Given the description of an element on the screen output the (x, y) to click on. 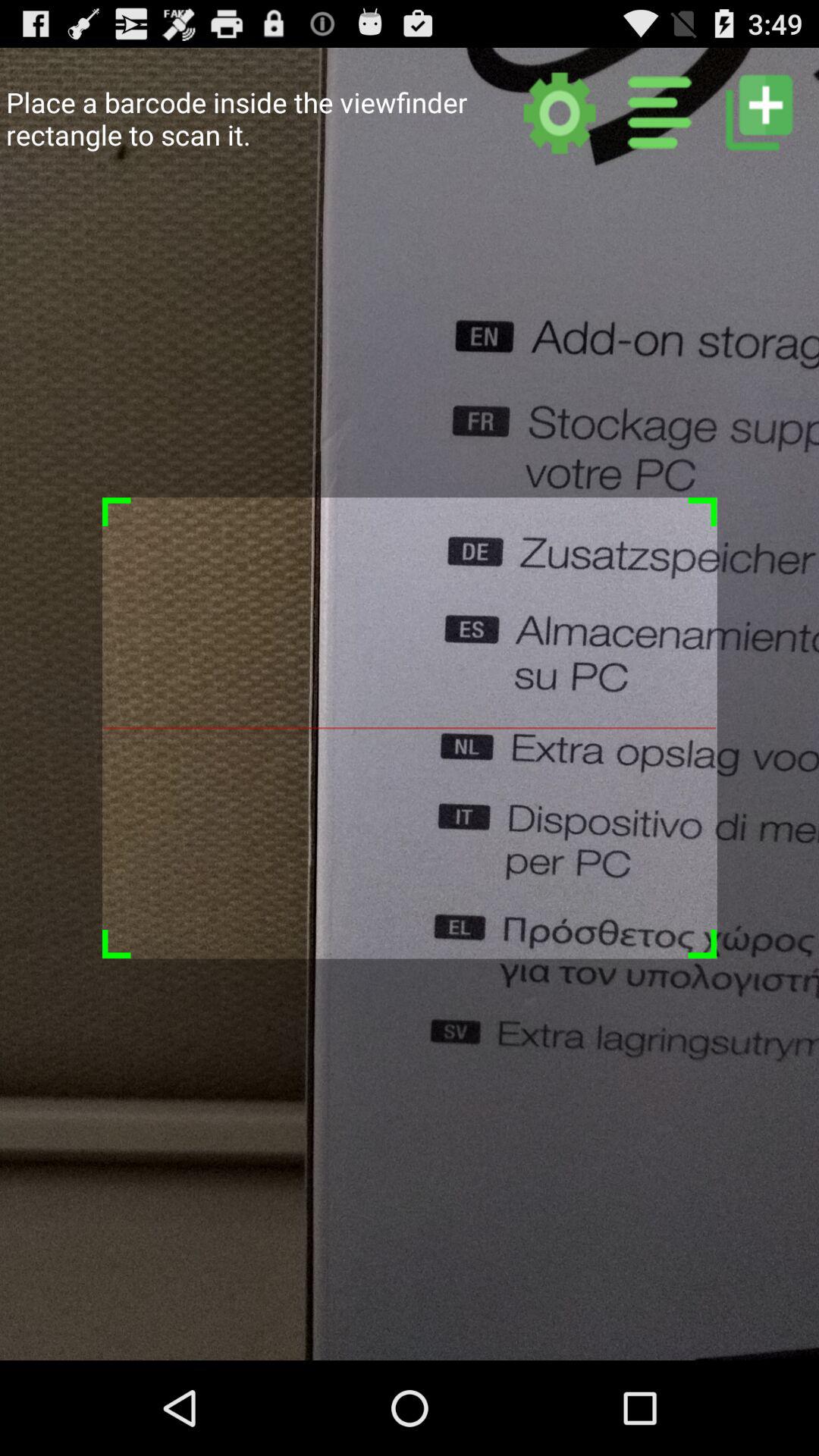
barcode scanner settings (560, 112)
